Given the description of an element on the screen output the (x, y) to click on. 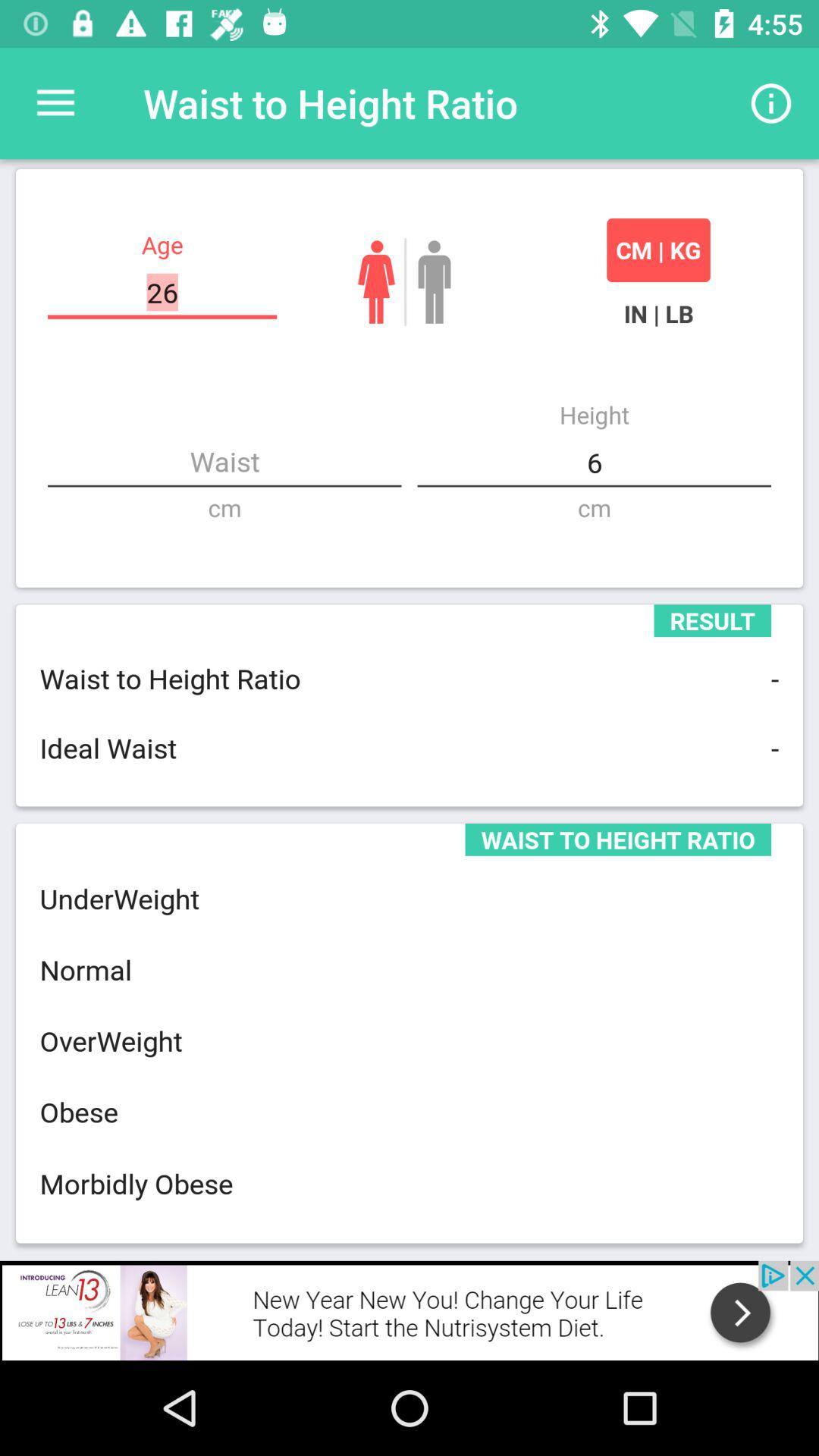
go to another site (409, 1310)
